Given the description of an element on the screen output the (x, y) to click on. 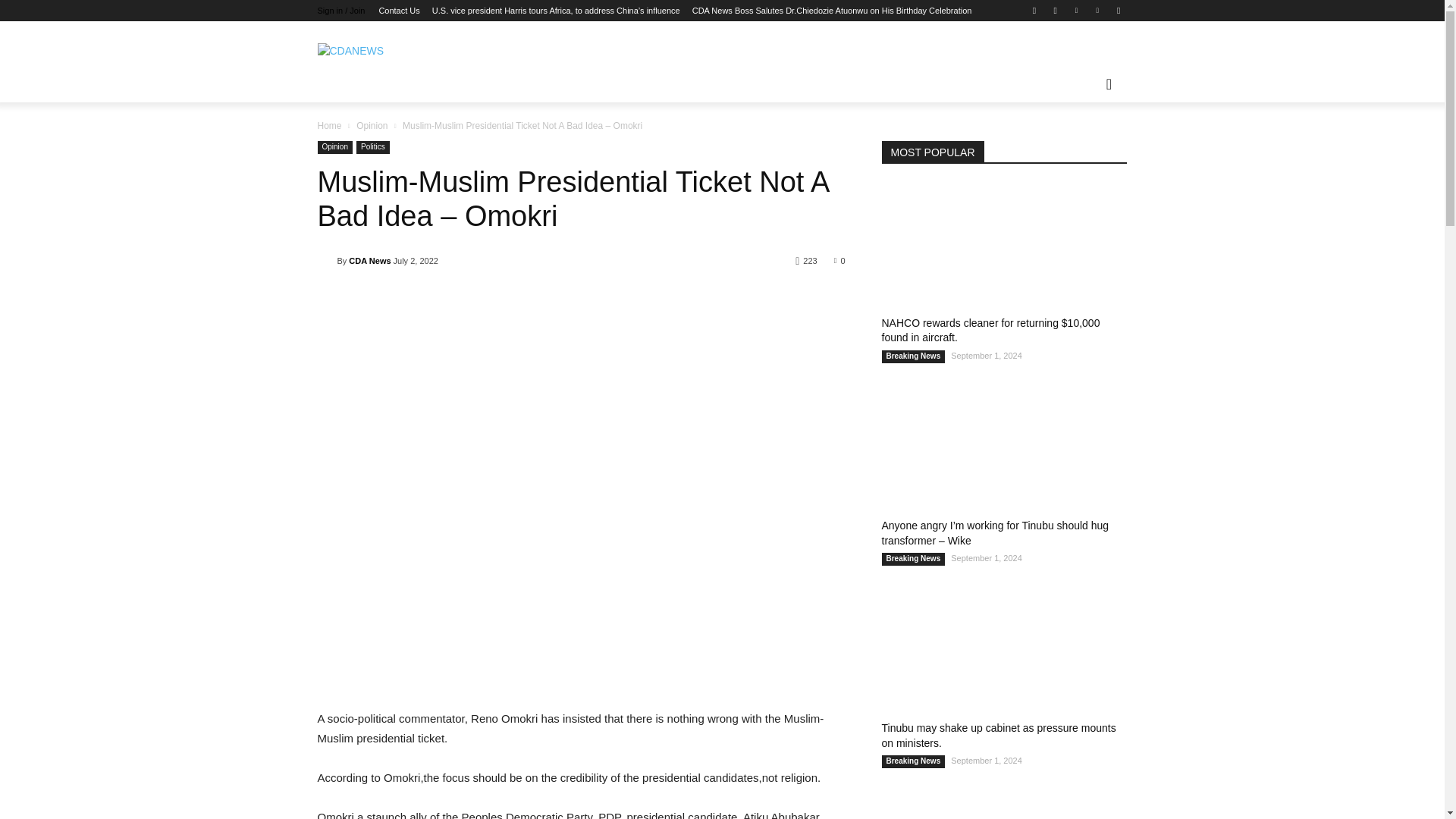
View all posts in Opinion (371, 125)
CDANEWS (392, 50)
Contact Us (398, 10)
